Given the description of an element on the screen output the (x, y) to click on. 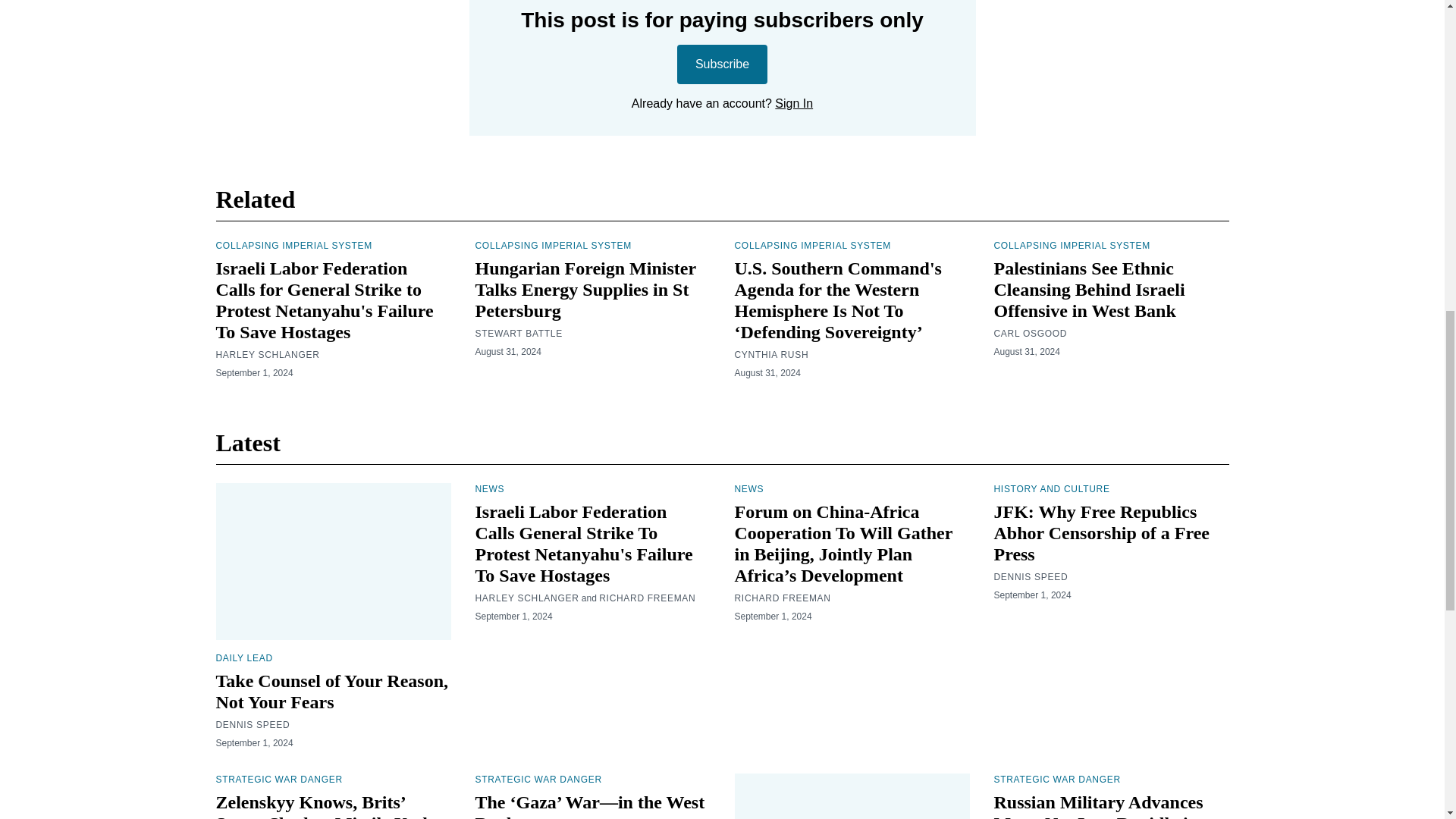
Sign In (793, 103)
COLLAPSING IMPERIAL SYSTEM (293, 245)
Subscribe (722, 64)
HARLEY SCHLANGER (266, 354)
STEWART BATTLE (518, 333)
COLLAPSING IMPERIAL SYSTEM (1071, 245)
COLLAPSING IMPERIAL SYSTEM (811, 245)
CYNTHIA RUSH (770, 354)
COLLAPSING IMPERIAL SYSTEM (552, 245)
